Given the description of an element on the screen output the (x, y) to click on. 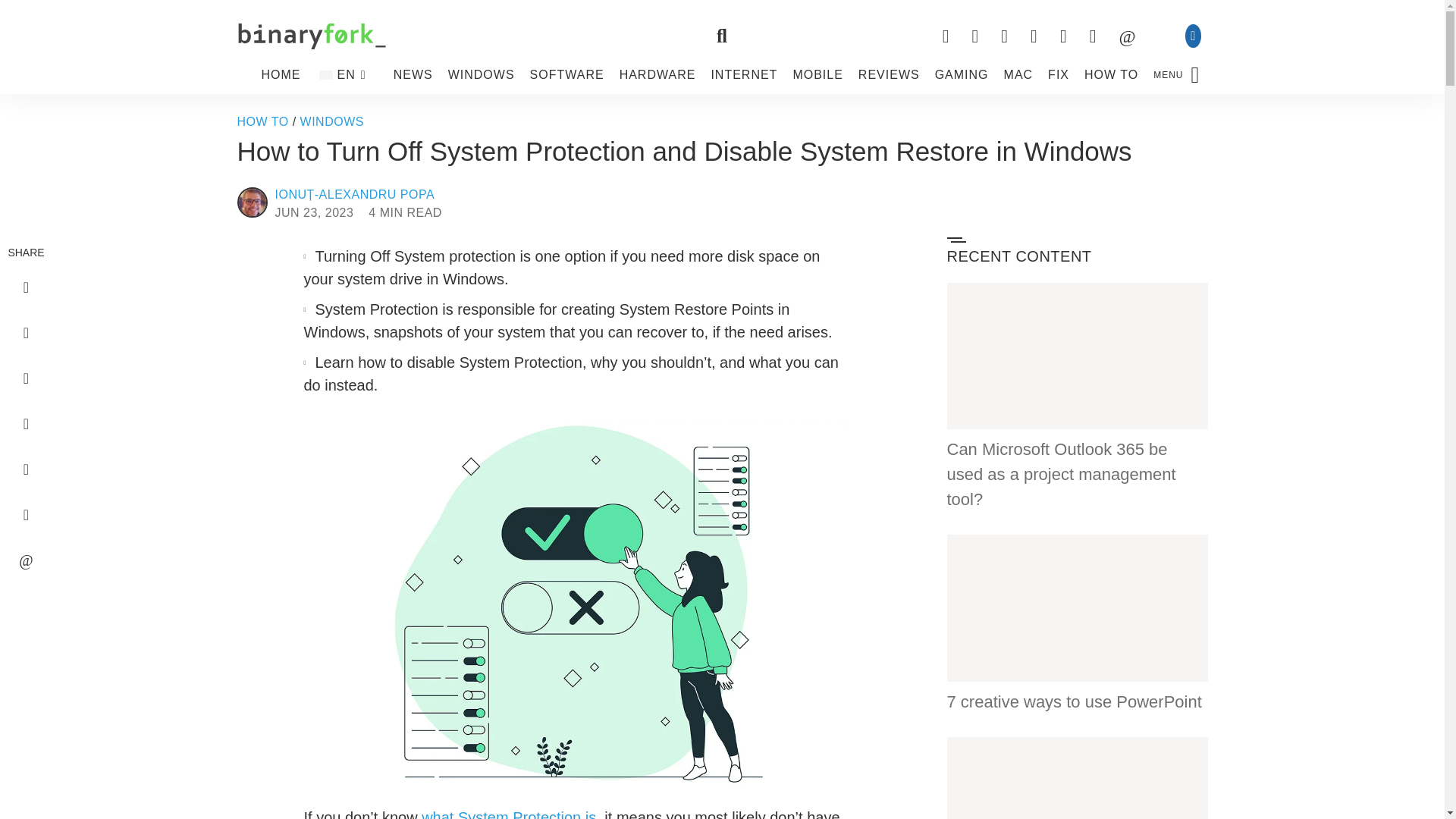
HOW TO (261, 121)
NEWS (413, 74)
FIX (1059, 74)
MAC (1018, 74)
MOBILE (817, 74)
WINDOWS (331, 121)
HARDWARE (657, 74)
EN (346, 74)
WINDOWS (481, 74)
INTERNET (743, 74)
